Given the description of an element on the screen output the (x, y) to click on. 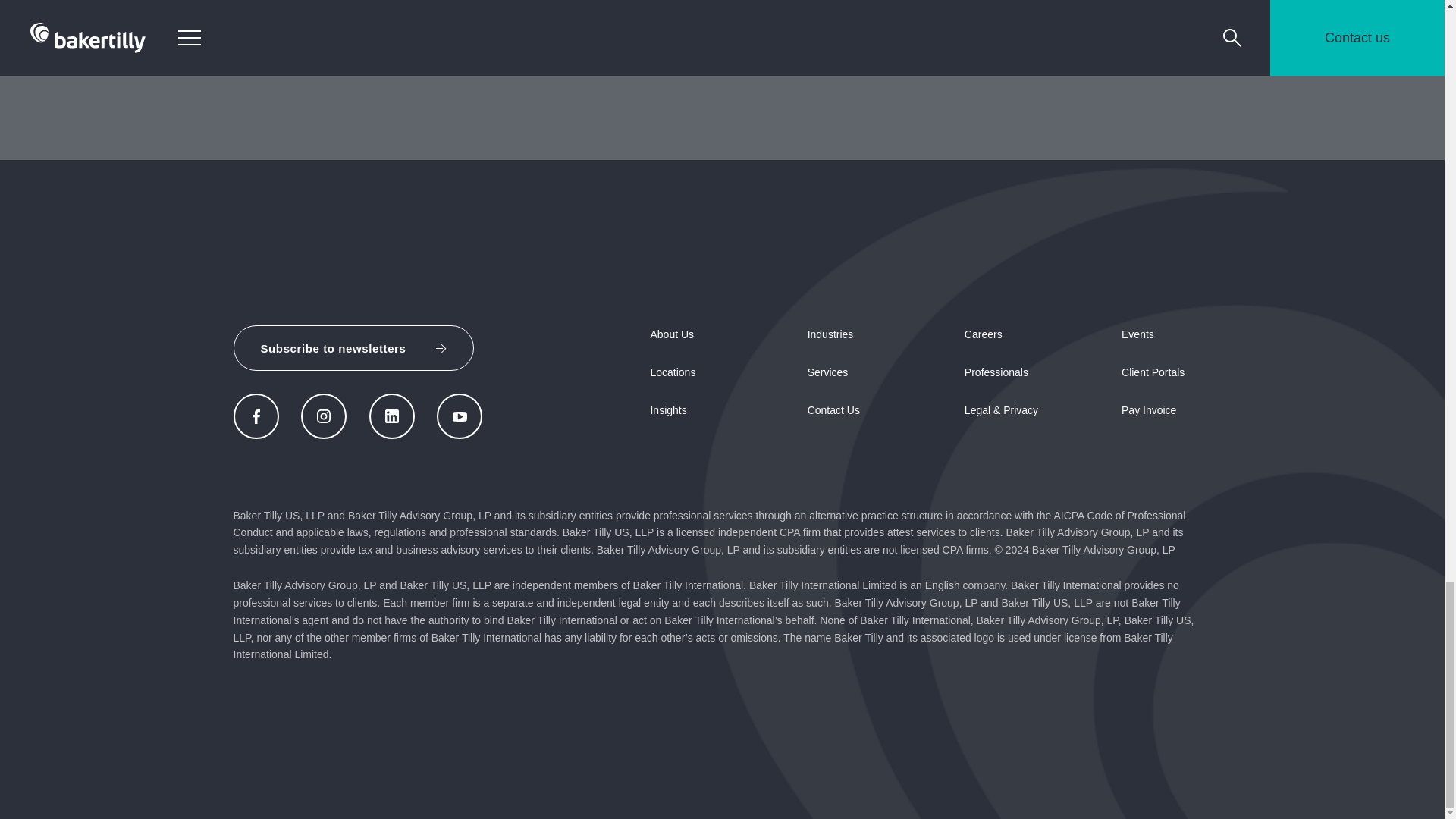
Insights (667, 410)
Professionals (995, 372)
Events (1137, 334)
Contact Us (834, 410)
Client Portals (1153, 372)
About Us (671, 334)
Services (828, 372)
Industries (830, 334)
Subscribe to newsletters (353, 348)
Pay Invoice (1148, 410)
Careers (983, 334)
Locations (672, 372)
